Given the description of an element on the screen output the (x, y) to click on. 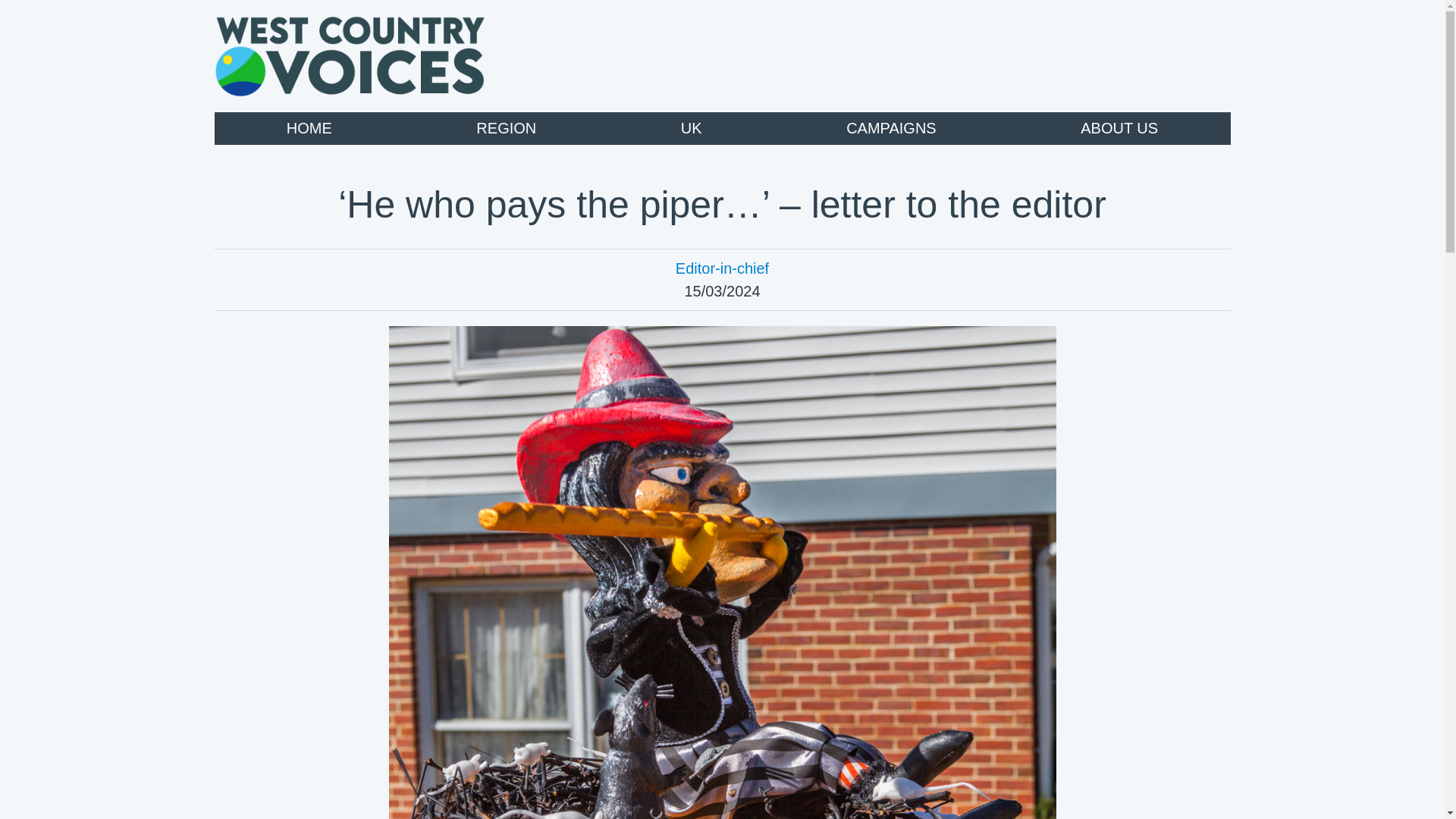
REGION (505, 128)
HOME (308, 128)
CAMPAIGNS (890, 128)
